Given the description of an element on the screen output the (x, y) to click on. 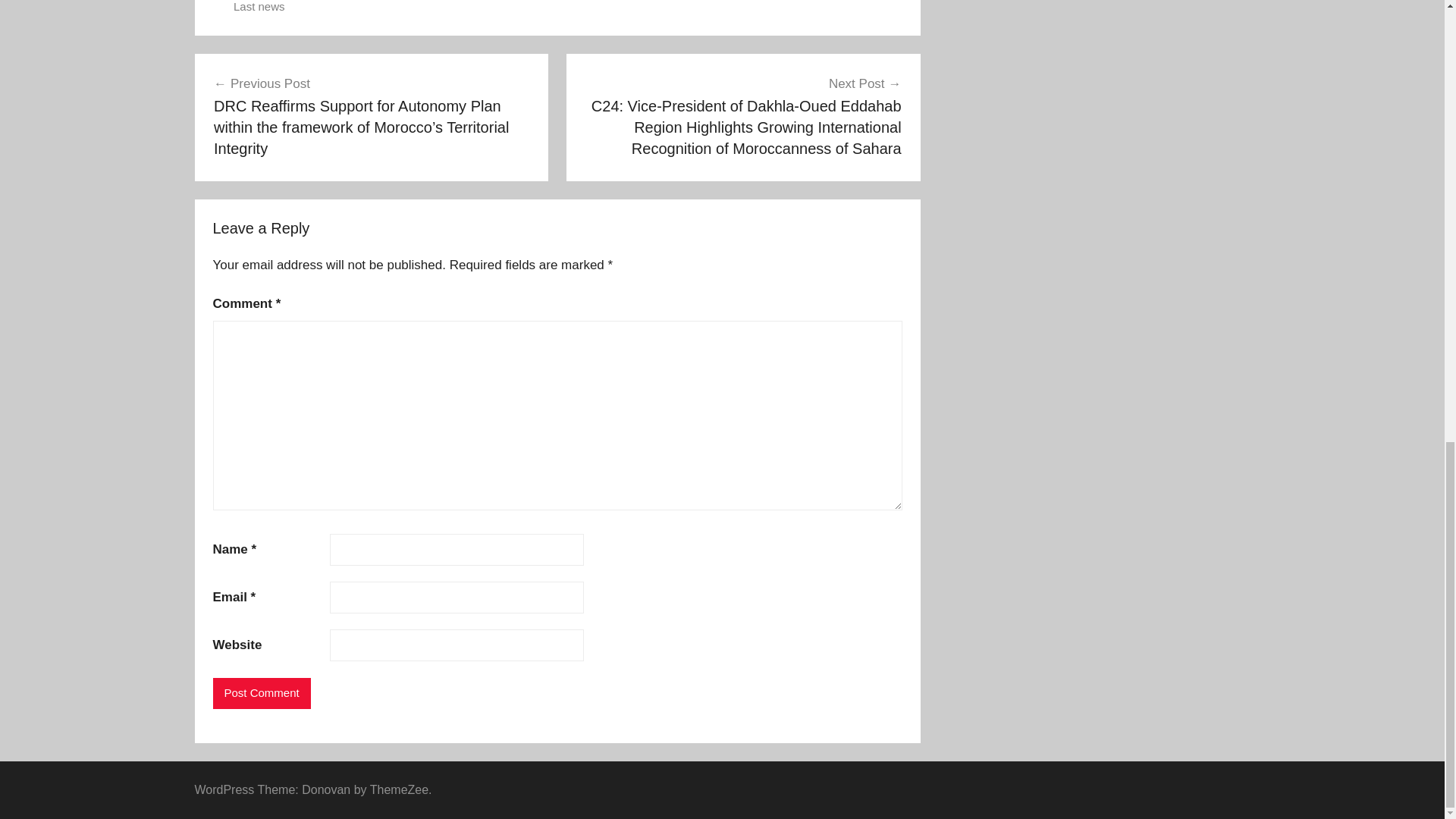
Post Comment (261, 693)
Post Comment (261, 693)
Last news (258, 6)
